Given the description of an element on the screen output the (x, y) to click on. 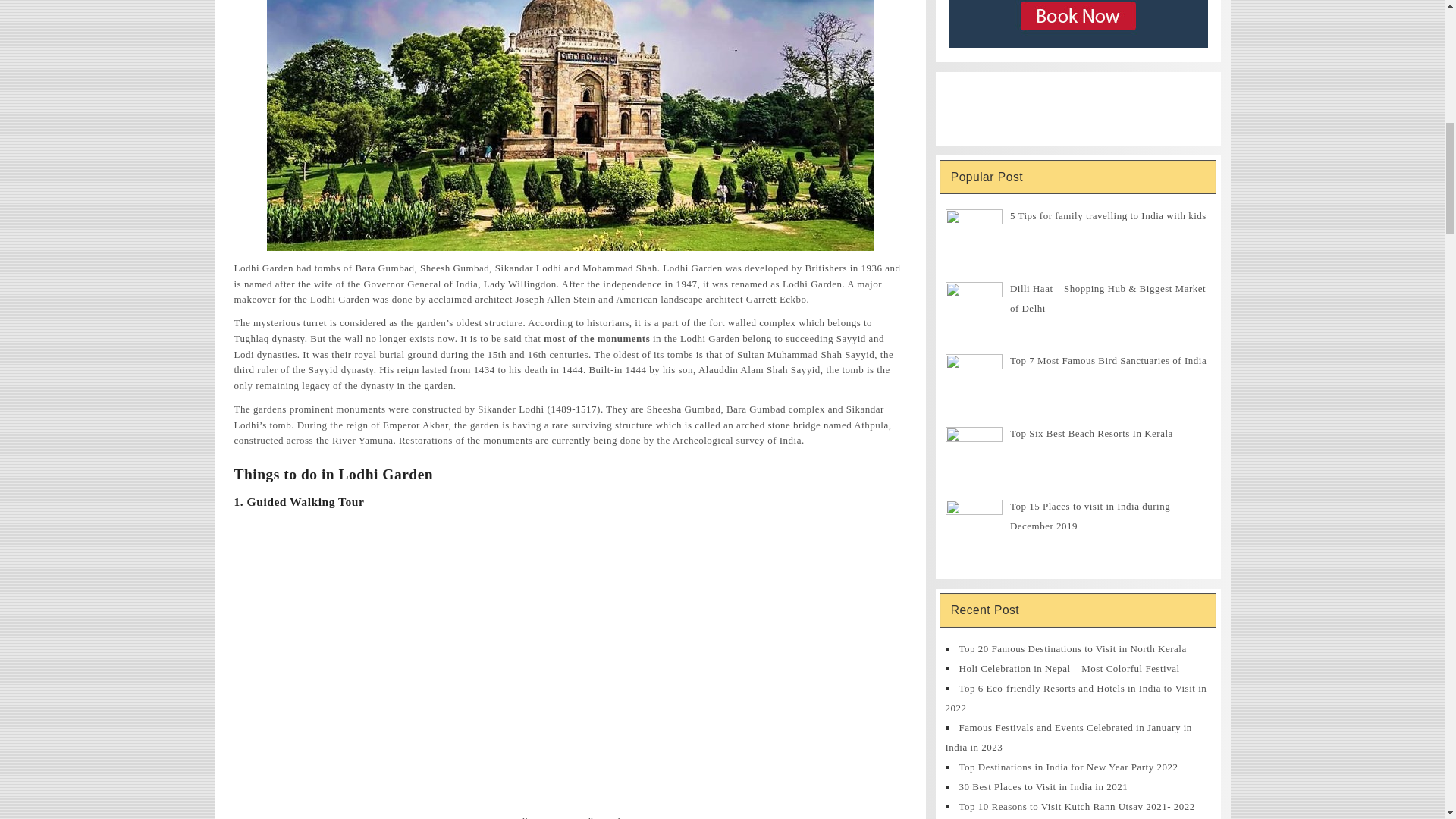
most of the monuments (596, 337)
5 Tips for family travelling to India with kids (1108, 215)
Top 15 Places to visit in India during December 2019 (1090, 515)
Top 7 Most Famous Bird Sanctuaries of India (1108, 360)
Top Six Best Beach Resorts In Kerala (1091, 432)
